Given the description of an element on the screen output the (x, y) to click on. 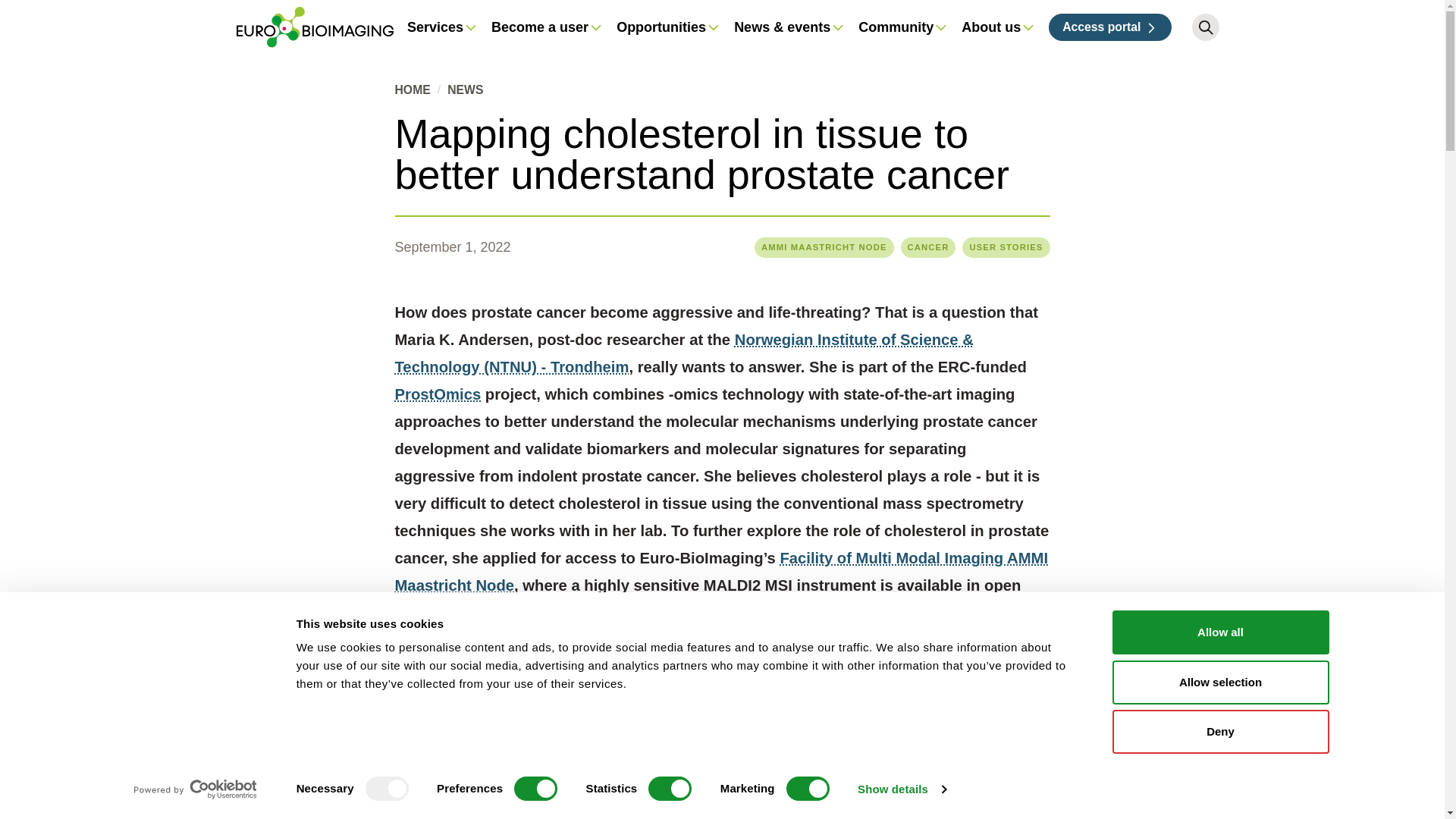
Deny (1219, 731)
Allow selection (1219, 681)
Show details (900, 789)
Allow all (1219, 632)
